Given the description of an element on the screen output the (x, y) to click on. 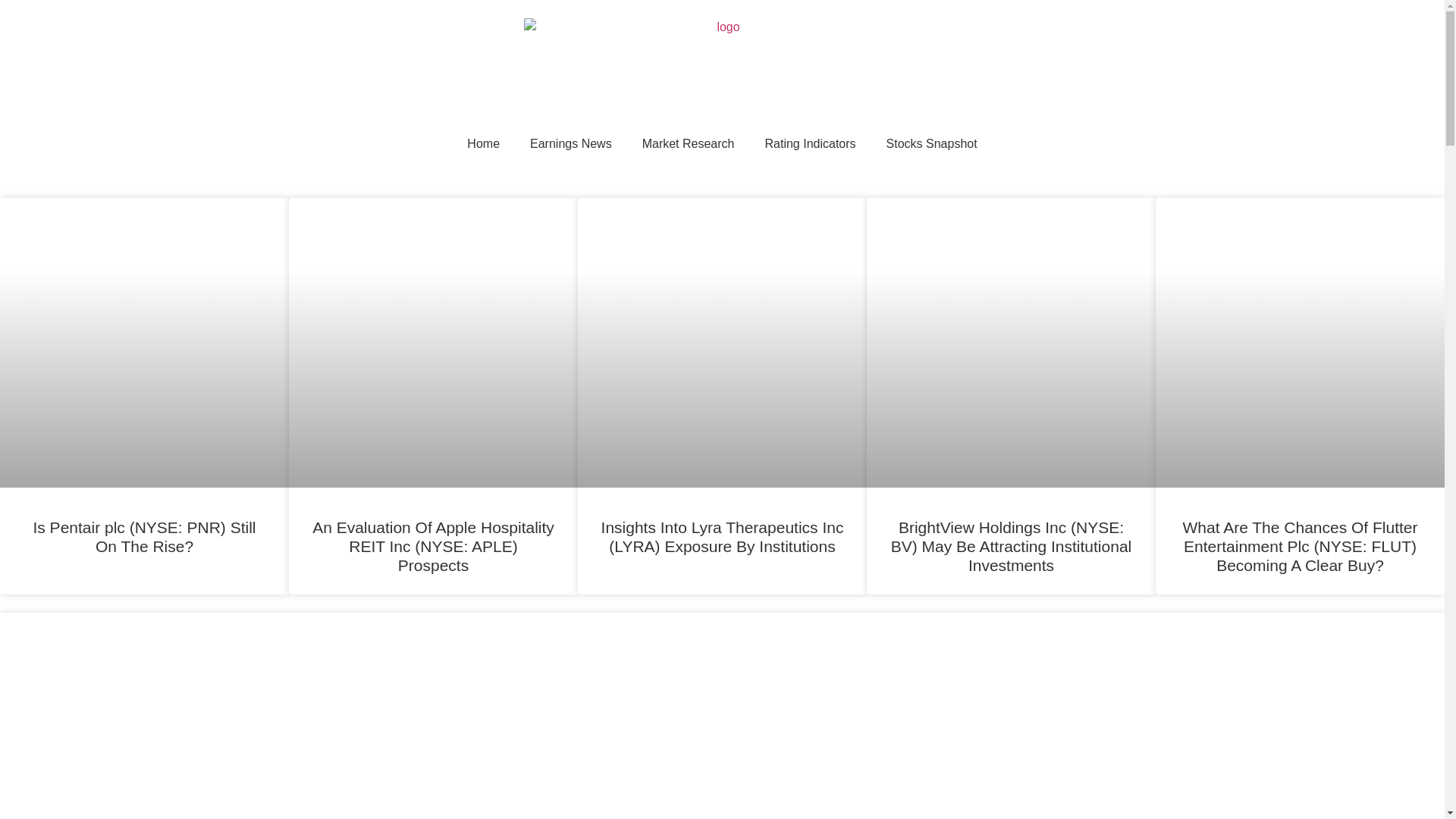
Stocks Snapshot (931, 143)
Rating Indicators (809, 143)
Home (483, 143)
Earnings News (571, 143)
Market Research (688, 143)
